Given the description of an element on the screen output the (x, y) to click on. 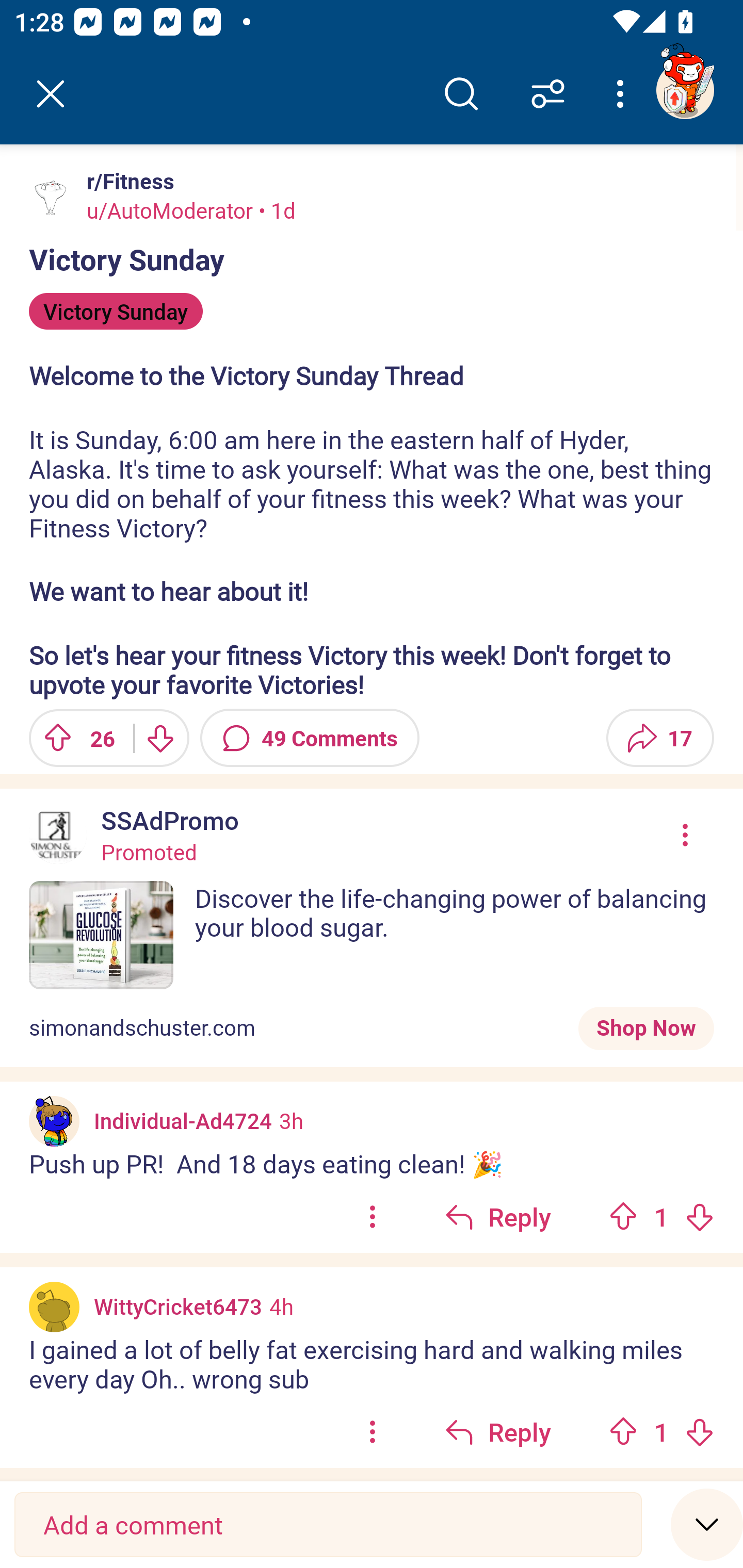
Back (50, 93)
TestAppium002 account (685, 90)
Search comments (460, 93)
Sort comments (547, 93)
More options (623, 93)
r/Fitness (126, 181)
Avatar (50, 196)
u/AutoModerator (169, 210)
Victory Sunday (115, 311)
Upvote 26 (73, 737)
Downvote (158, 737)
49 Comments (309, 737)
Share 17 (660, 737)
Custom avatar (53, 1121)
3h (291, 1120)
Push up PR!  And 18 days eating clean! 🎉 (371, 1163)
options (372, 1216)
Reply (498, 1216)
Upvote 1 1 vote Downvote (661, 1216)
Upvote (622, 1216)
Downvote (699, 1216)
Avatar (53, 1306)
4h (280, 1306)
options (372, 1431)
Reply (498, 1431)
Upvote 1 1 vote Downvote (661, 1431)
Upvote (622, 1431)
Downvote (699, 1431)
Speed read (706, 1524)
Add a comment (327, 1524)
